Given the description of an element on the screen output the (x, y) to click on. 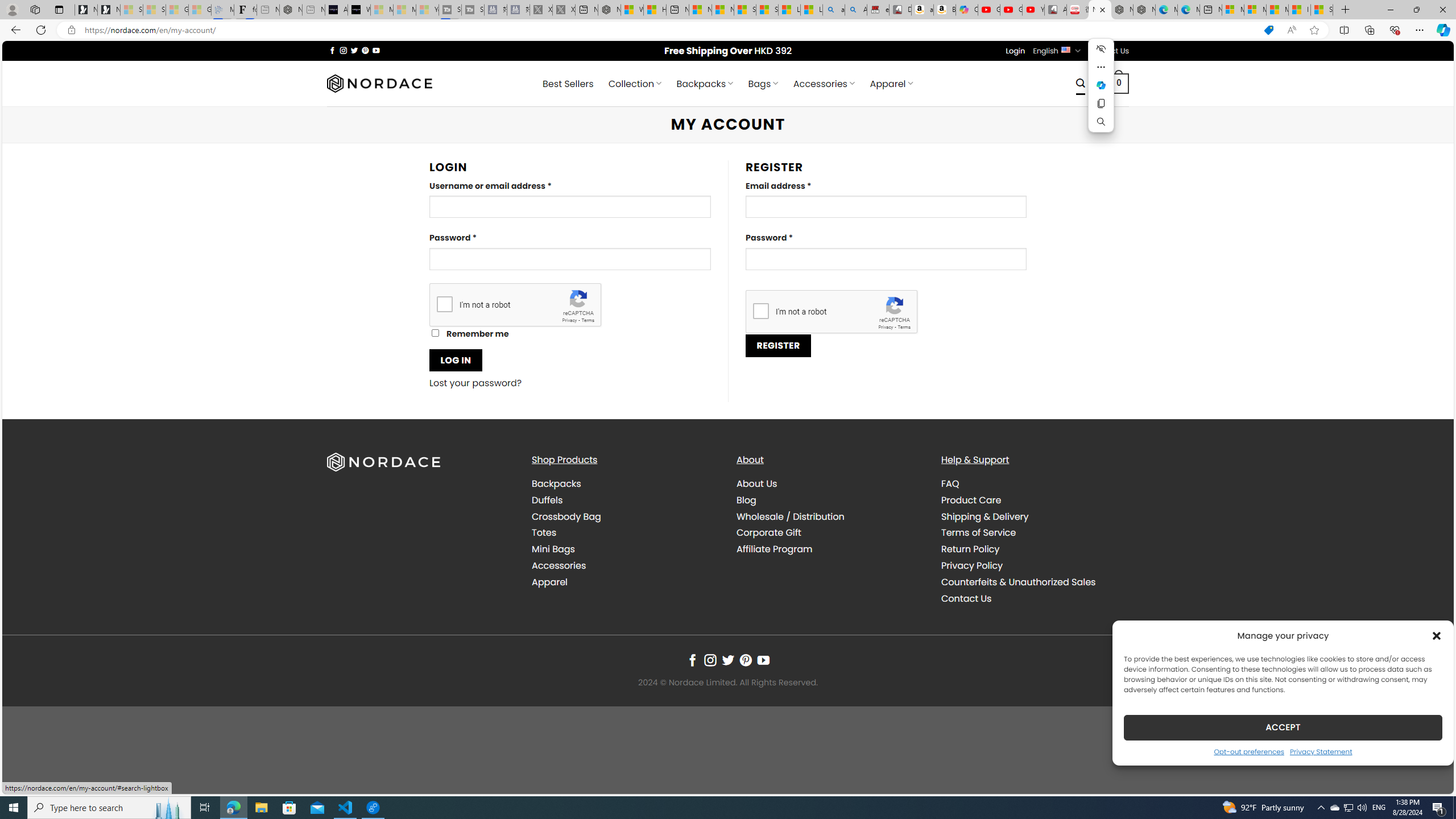
YouTube Kids - An App Created for Kids to Explore Content (1033, 9)
Terms of Service (978, 532)
View site information (70, 29)
Terms of Service (1034, 532)
Privacy Policy (1034, 565)
Restore (1416, 9)
What's the best AI voice generator? - voice.ai (359, 9)
REGISTER (777, 345)
Blog (746, 499)
